Given the description of an element on the screen output the (x, y) to click on. 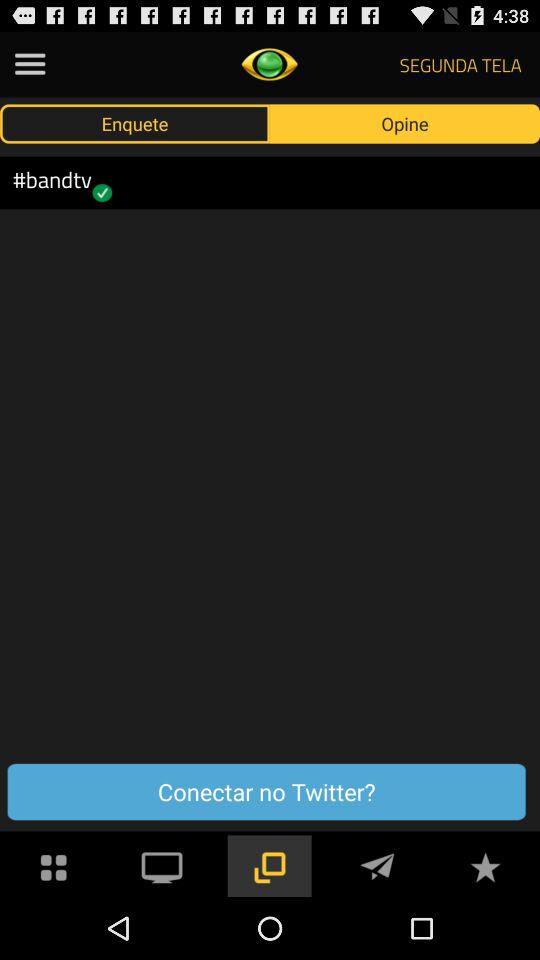
open the item to the left of opine (135, 123)
